Given the description of an element on the screen output the (x, y) to click on. 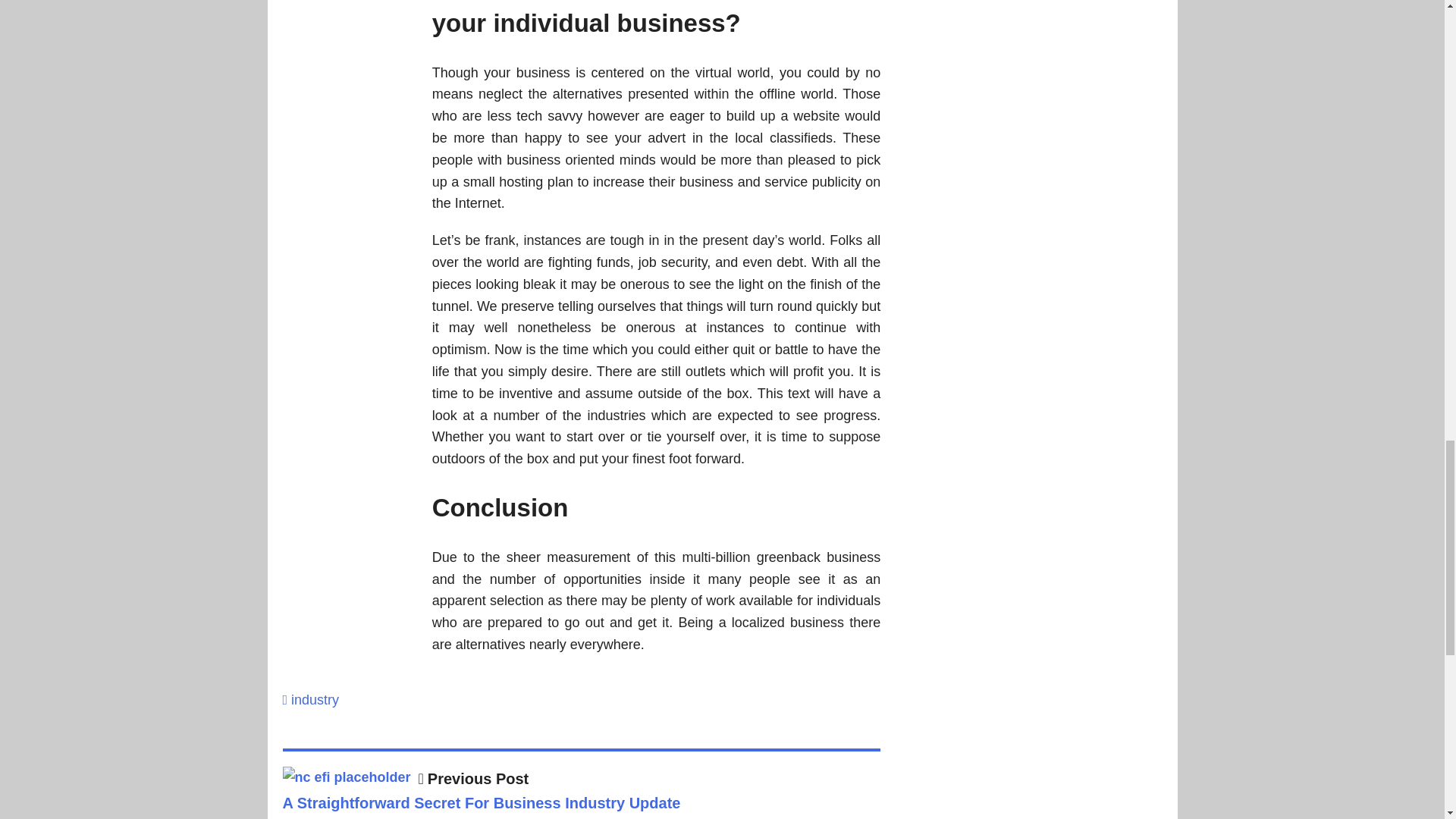
A Straightforward Secret For Business Industry Update (346, 777)
industry (315, 699)
